Given the description of an element on the screen output the (x, y) to click on. 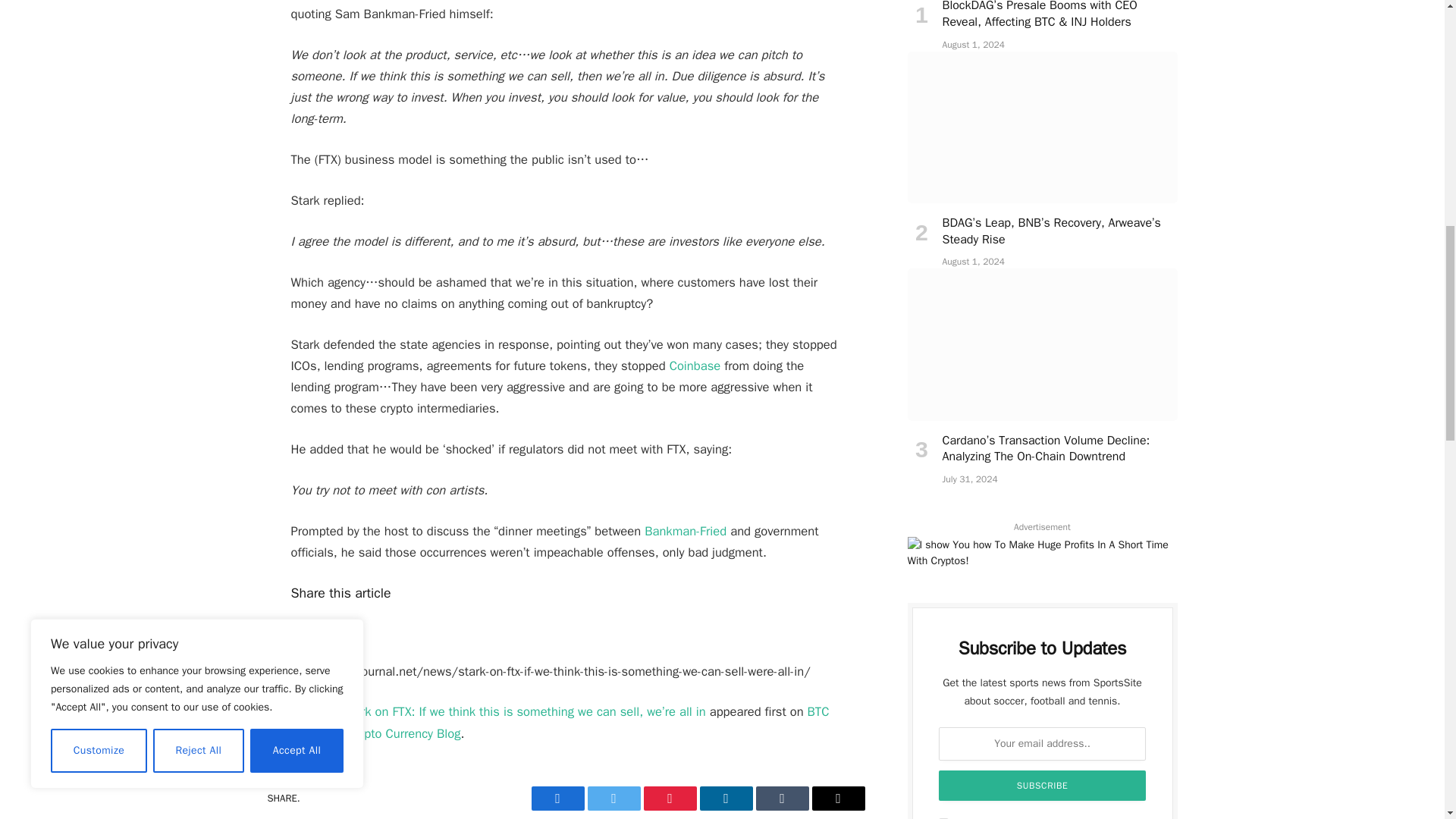
Subscribe (1043, 785)
